Given the description of an element on the screen output the (x, y) to click on. 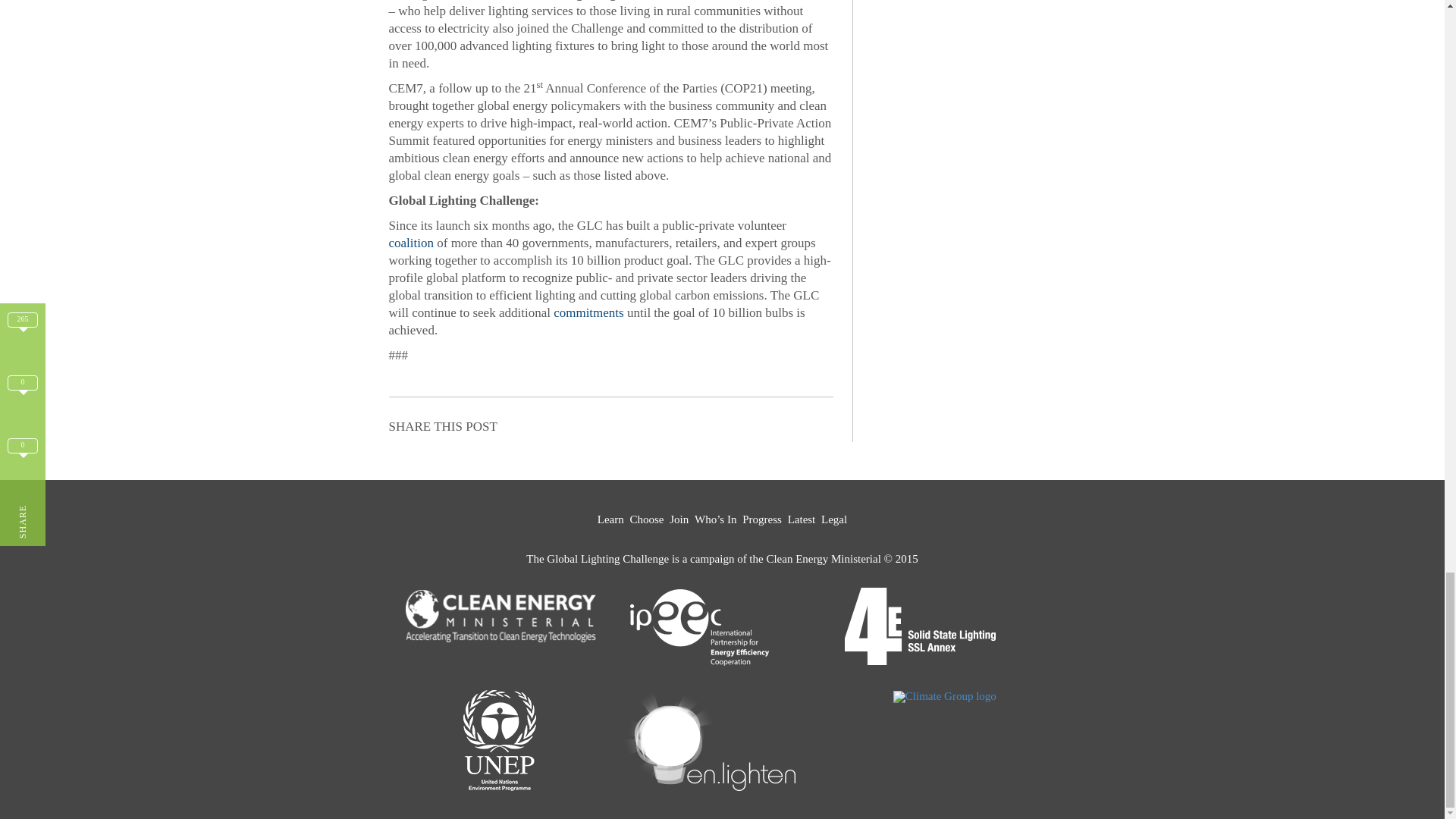
Learn (610, 519)
Progress (761, 519)
coalition (410, 242)
Legal (834, 519)
Latest (801, 519)
Join (678, 519)
commitments (588, 312)
Choose (646, 519)
